Given the description of an element on the screen output the (x, y) to click on. 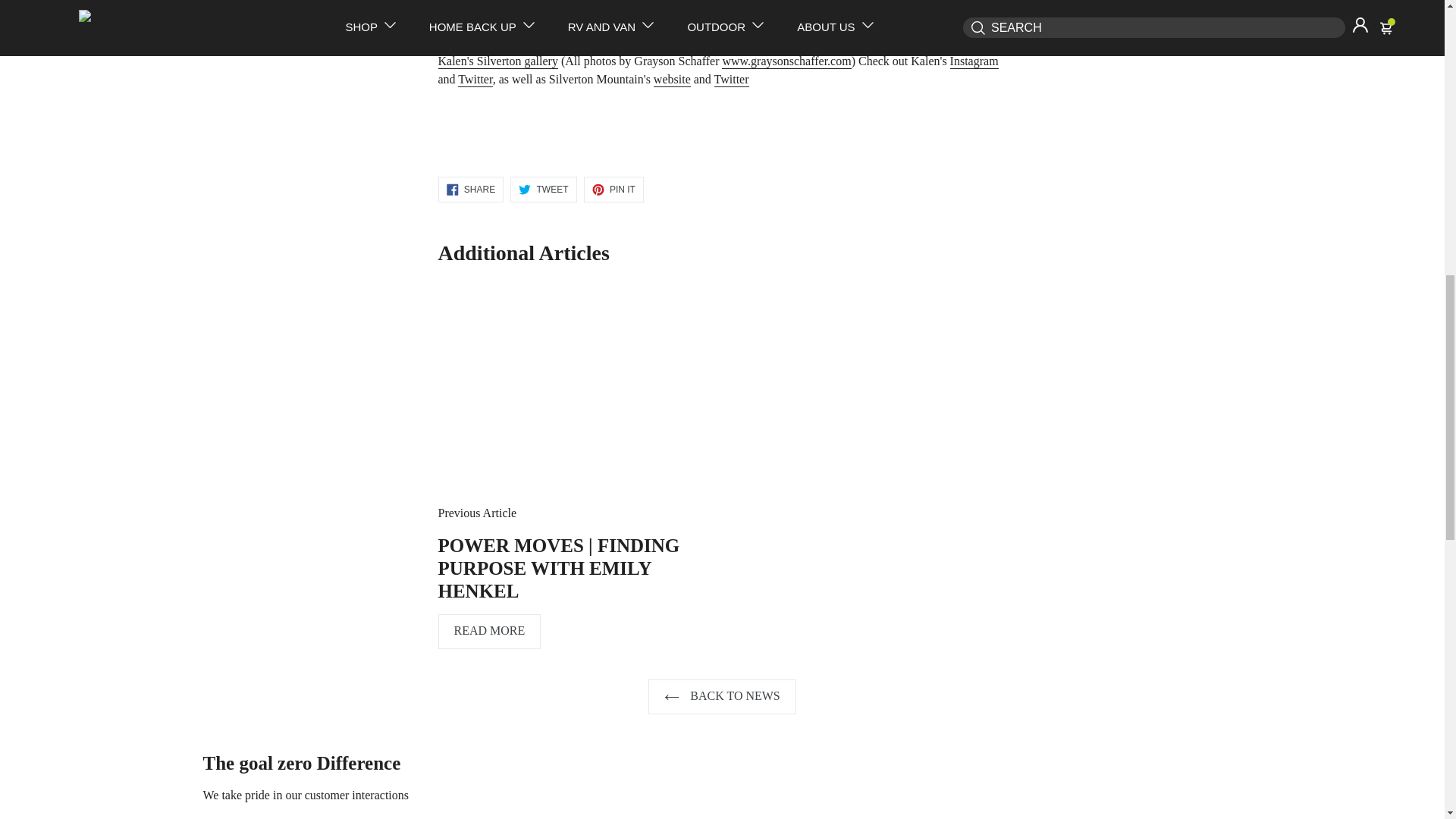
Tweet on Twitter (543, 188)
Share on Facebook (470, 188)
Pin on Pinterest (613, 188)
